Given the description of an element on the screen output the (x, y) to click on. 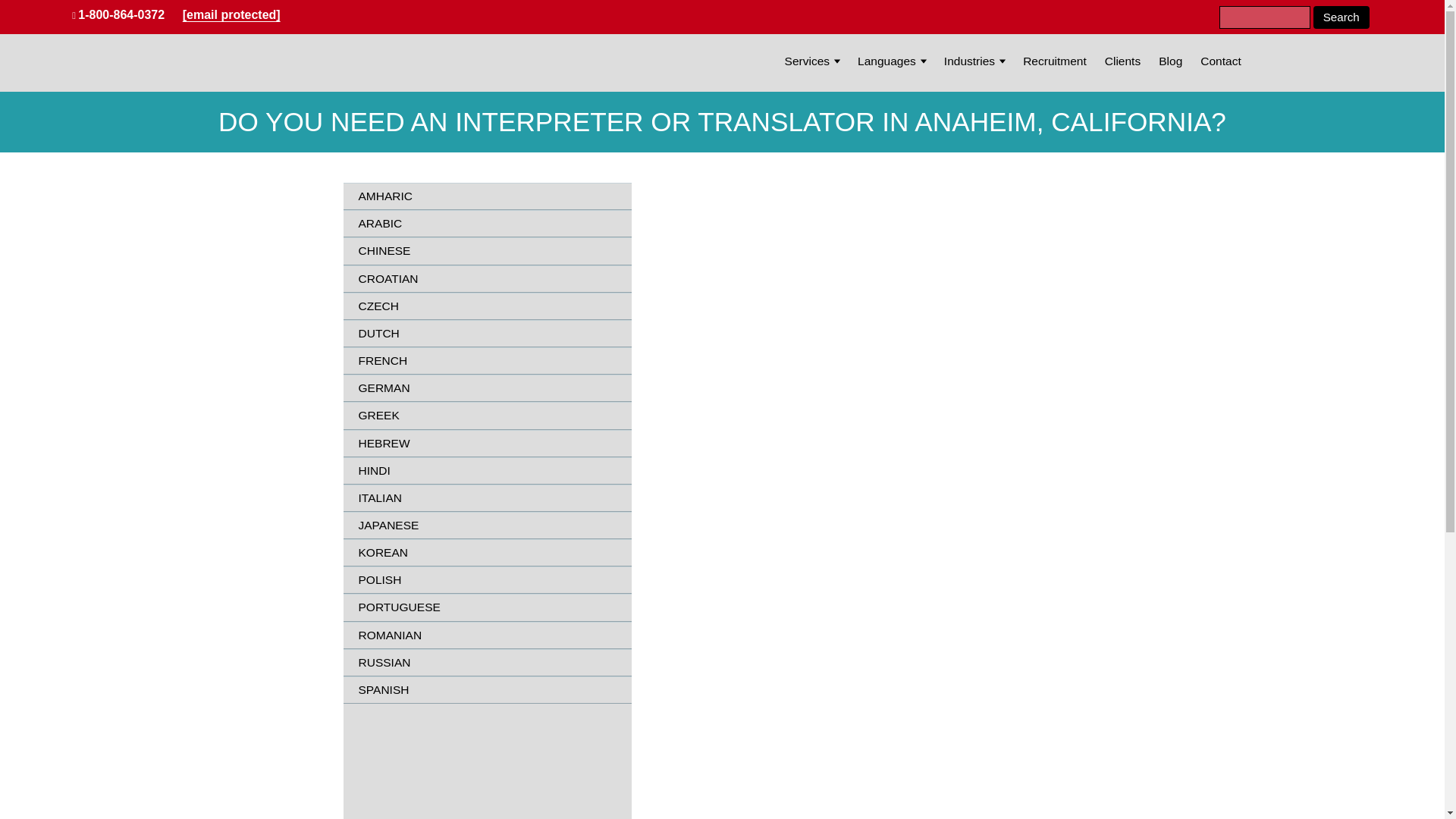
Languages (886, 61)
Services (808, 61)
Search (1341, 16)
Search (1341, 16)
Search (1341, 16)
